Given the description of an element on the screen output the (x, y) to click on. 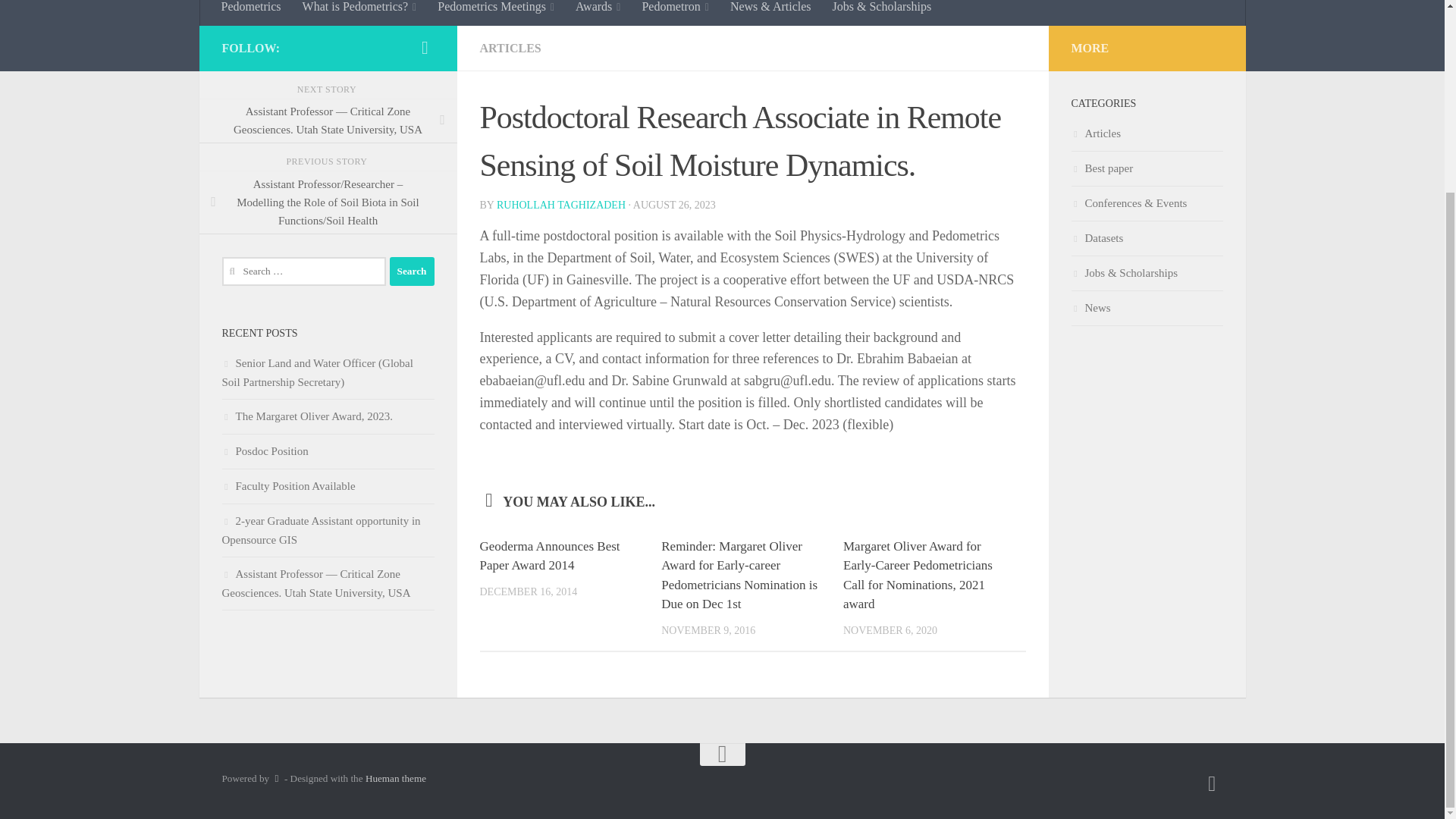
Hueman theme (395, 778)
Powered by WordPress (275, 777)
Search (411, 271)
What is Pedometrics? (360, 12)
Follow us on Twitter (1212, 783)
Follow us on Twitter (423, 47)
Posts by Ruhollah Taghizadeh (561, 204)
Pedometrics (251, 12)
Search (411, 271)
